Given the description of an element on the screen output the (x, y) to click on. 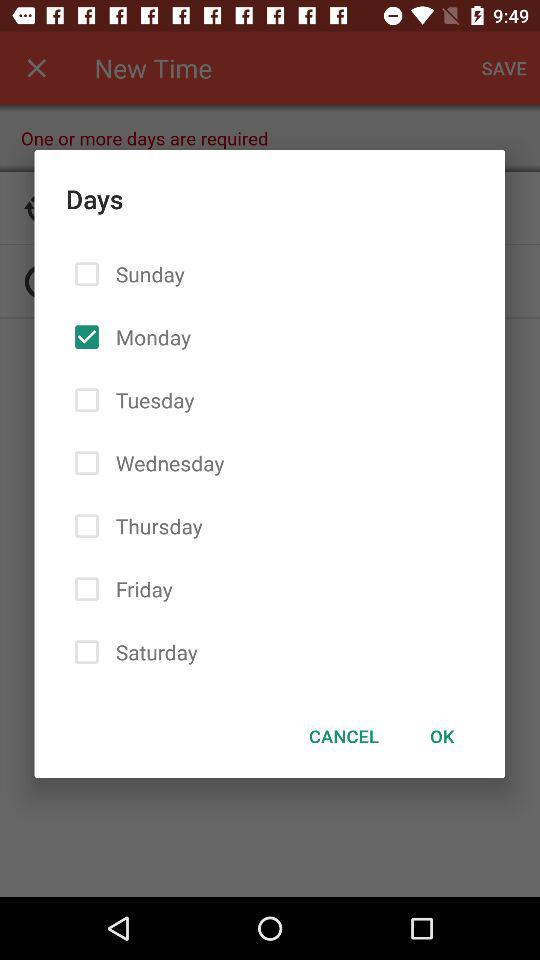
flip until the tuesday item (151, 399)
